Given the description of an element on the screen output the (x, y) to click on. 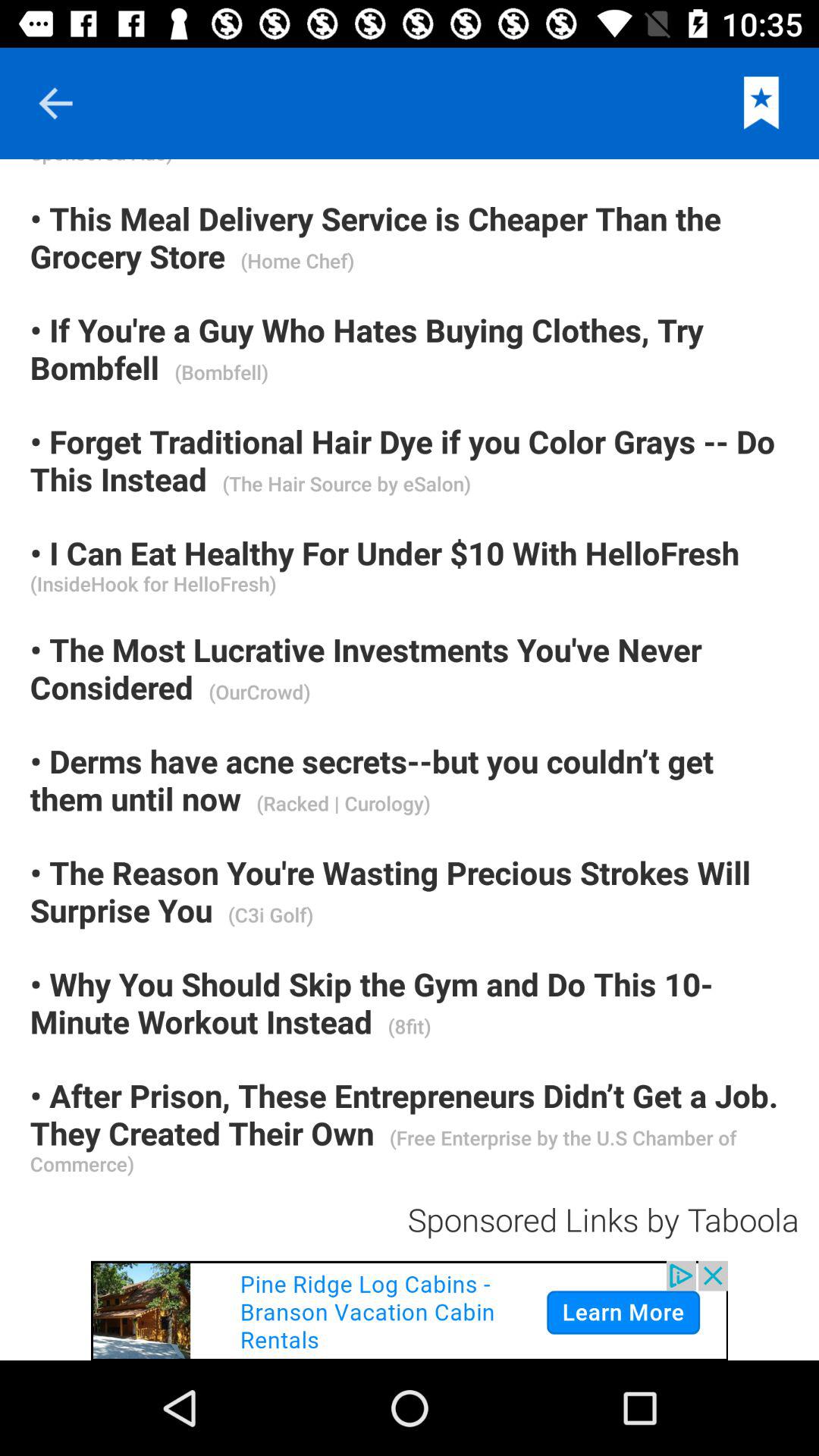
back (55, 103)
